Given the description of an element on the screen output the (x, y) to click on. 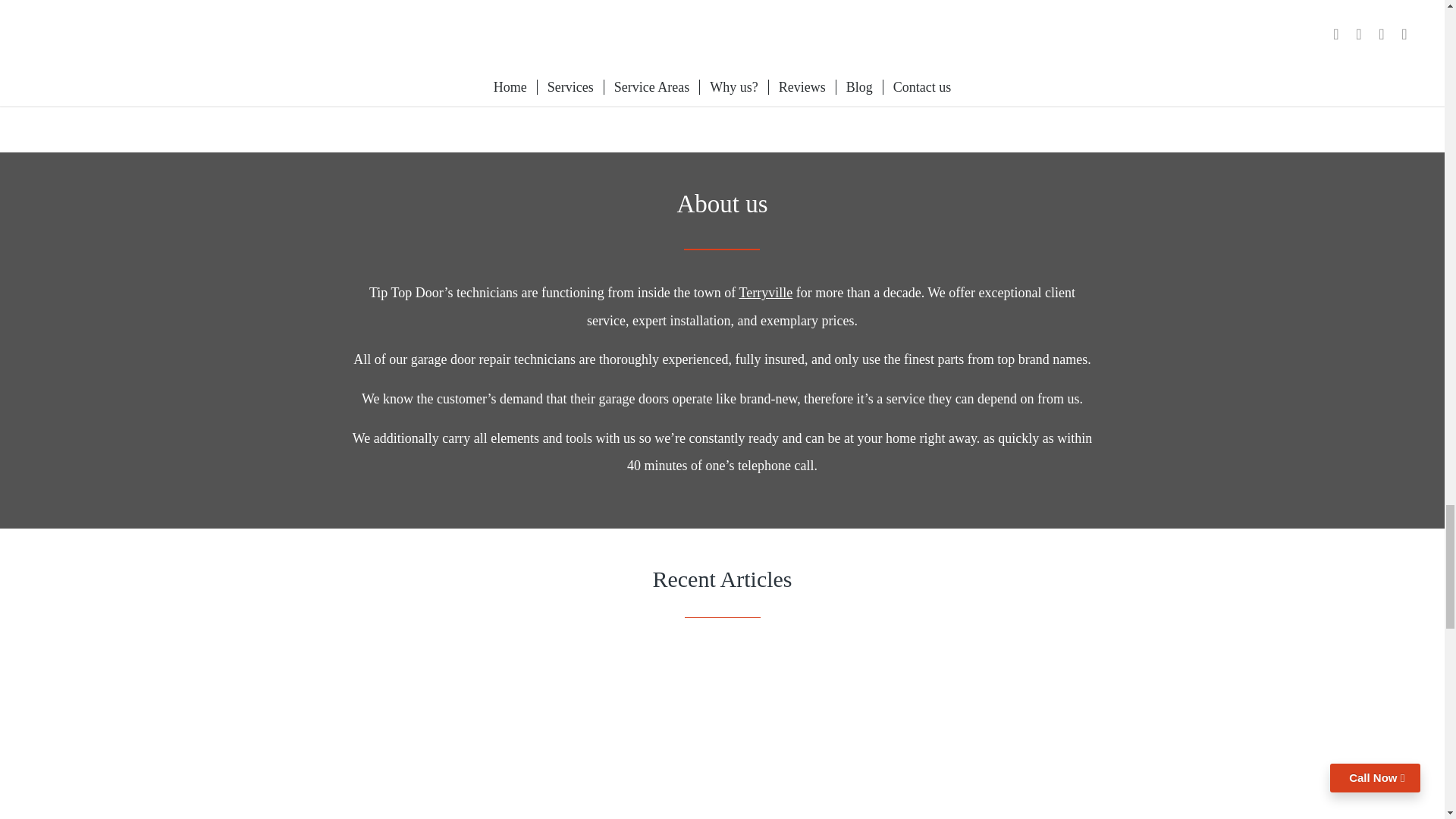
Terryville (766, 292)
